Given the description of an element on the screen output the (x, y) to click on. 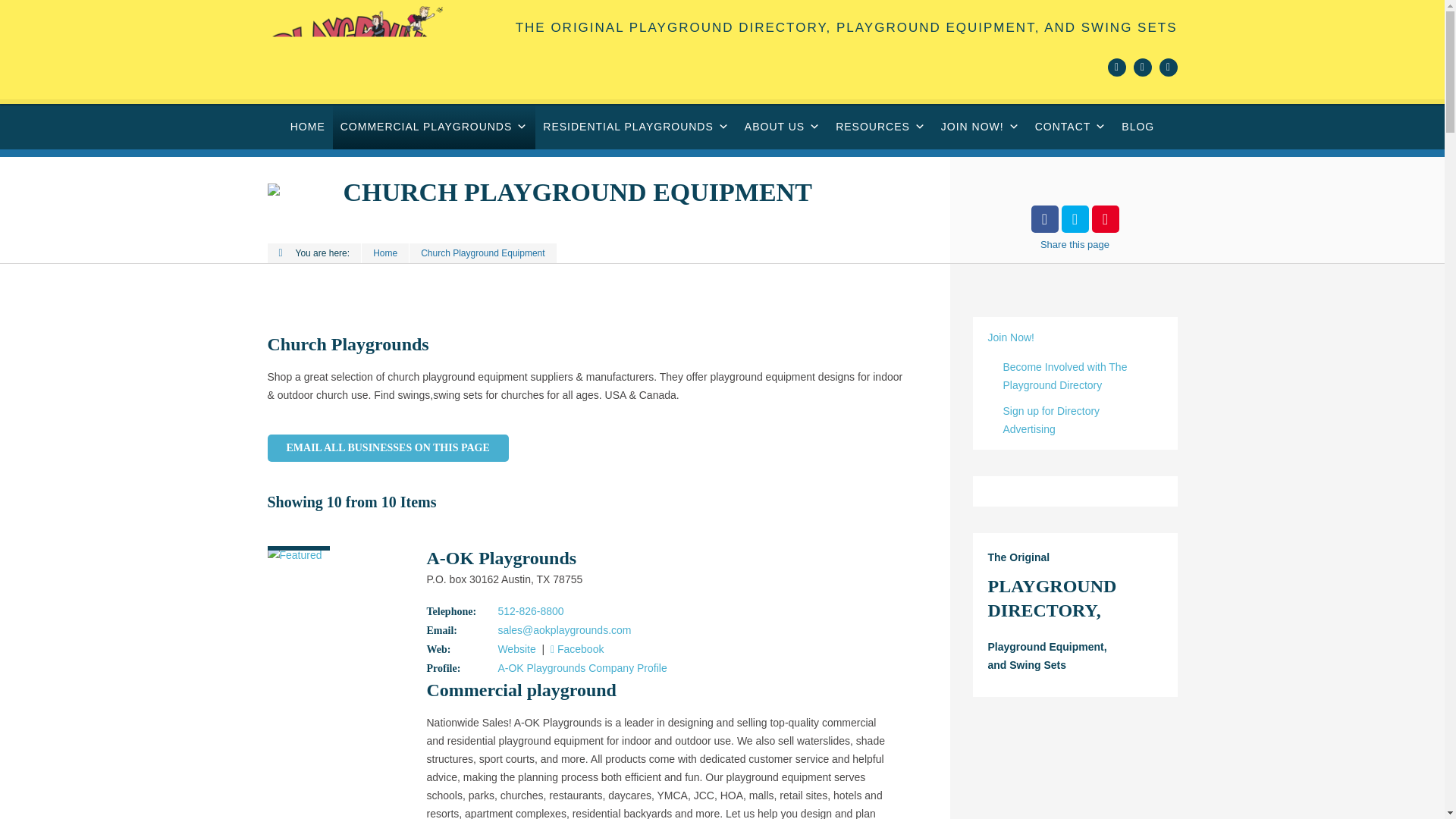
Home (307, 126)
COMMERCIAL (434, 126)
Email ALL Businesses on this page (387, 447)
Playground Directory (341, 52)
HOME (307, 126)
COMMERCIAL PLAYGROUNDS (434, 126)
